Given the description of an element on the screen output the (x, y) to click on. 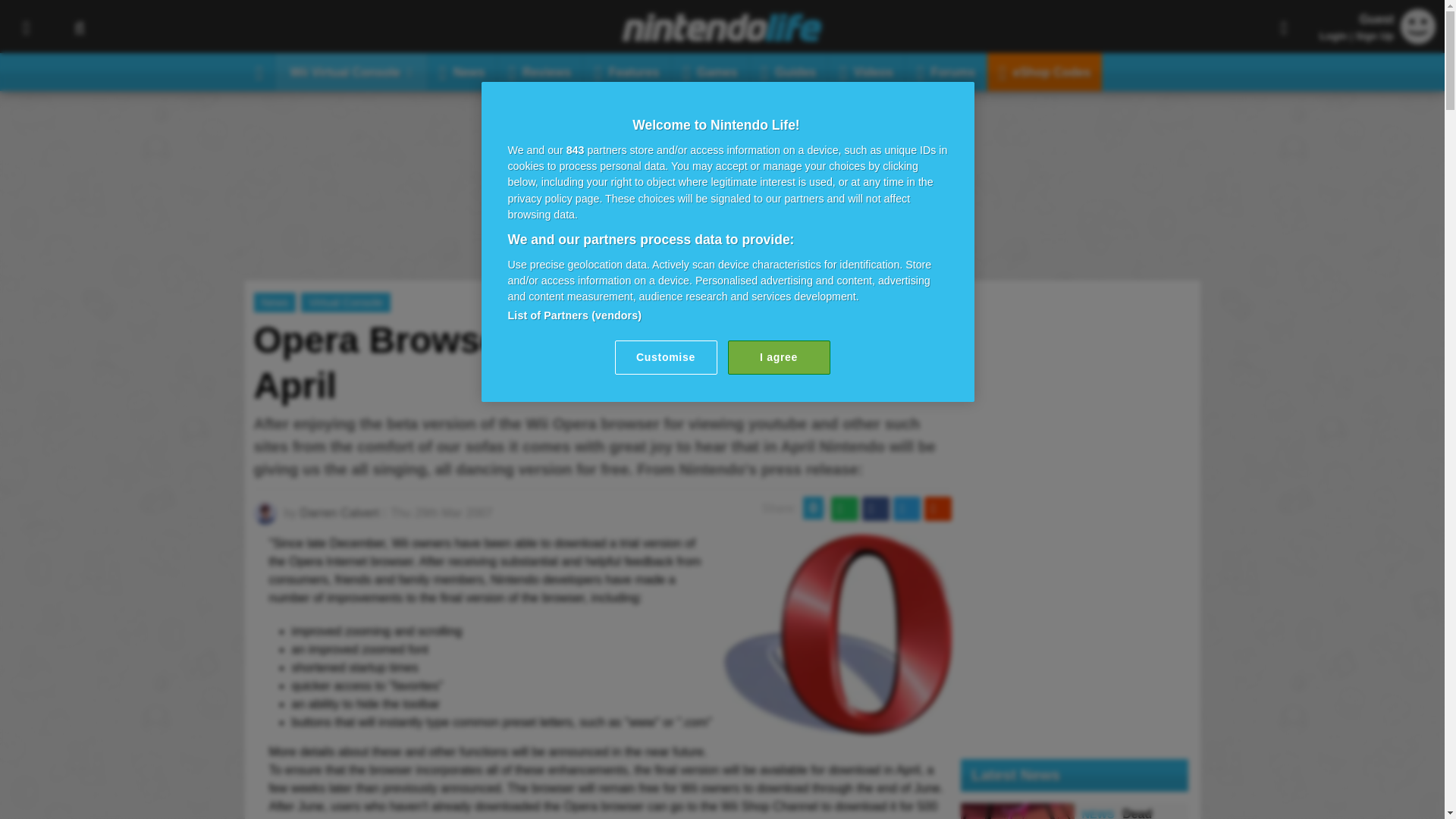
Guides (788, 71)
Login (1332, 35)
Guest (1417, 39)
Features (627, 71)
Topics (26, 26)
Games (710, 71)
eShop Codes (1044, 71)
Share This Page (1283, 26)
Nintendo Life (721, 27)
Nintendo Life (721, 27)
